Given the description of an element on the screen output the (x, y) to click on. 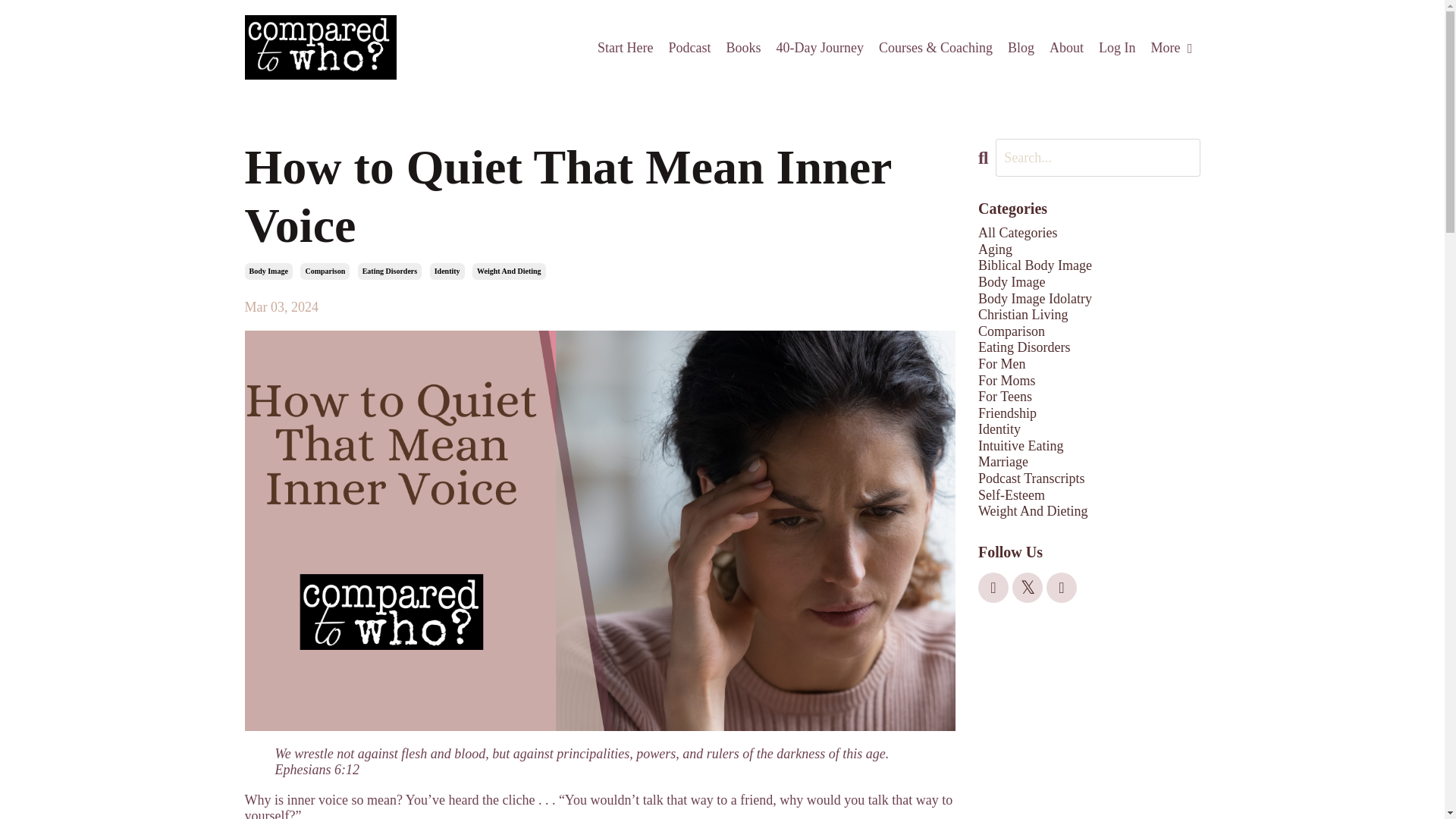
Biblical Body Image (1088, 265)
All Categories (1088, 233)
Identity (1088, 429)
Podcast (689, 48)
Books (742, 48)
Aging (1088, 249)
Self-Esteem (1088, 495)
Friendship (1088, 413)
Blog (1020, 48)
Podcast Transcripts (1088, 478)
Christian Living (1088, 315)
Intuitive Eating (1088, 446)
Start Here (624, 48)
Body Image (268, 271)
Eating Disorders (390, 271)
